Given the description of an element on the screen output the (x, y) to click on. 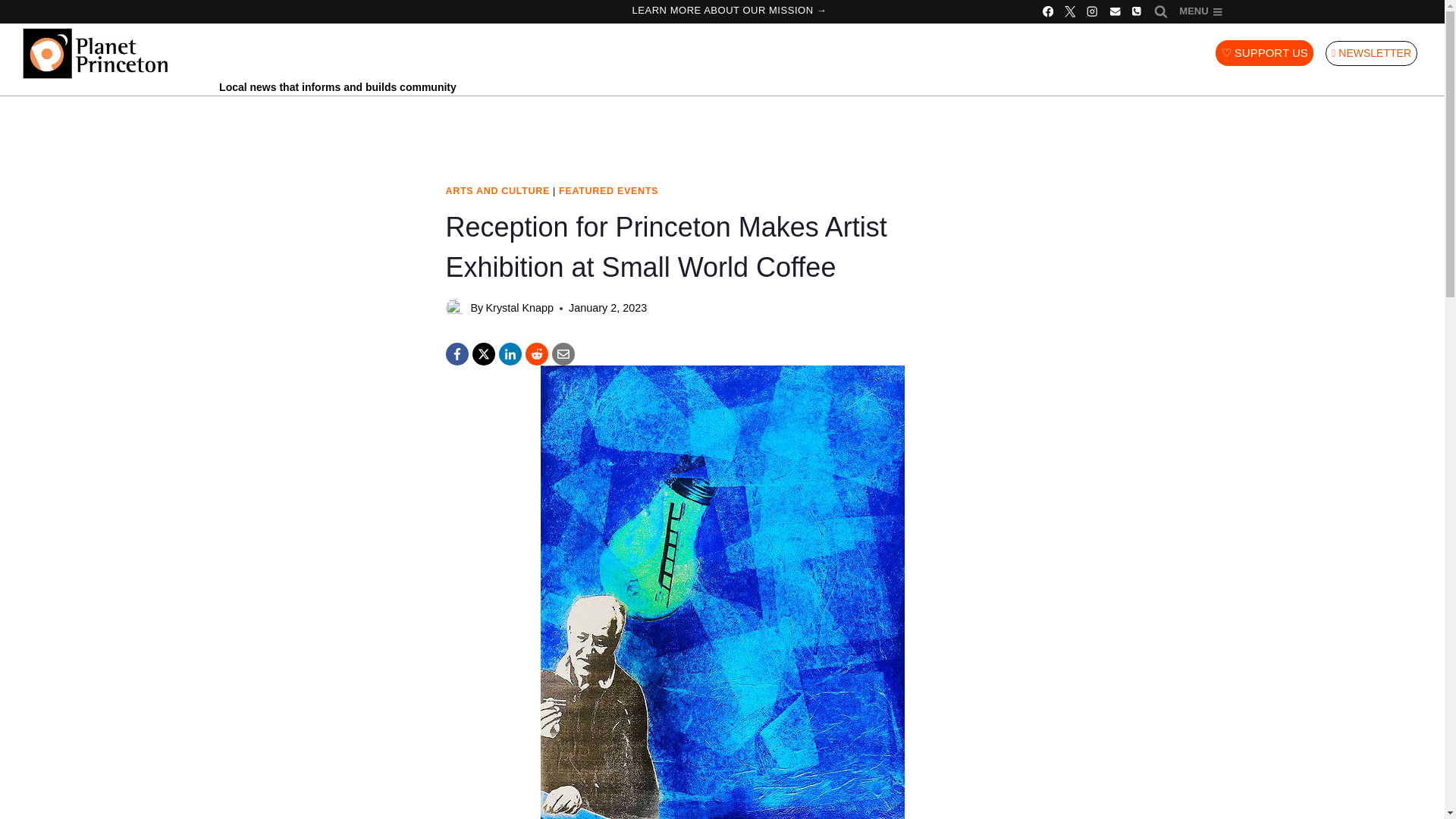
MENU (1199, 11)
Krystal Knapp (518, 307)
FEATURED EVENTS (608, 190)
ARTS AND CULTURE (497, 190)
